Given the description of an element on the screen output the (x, y) to click on. 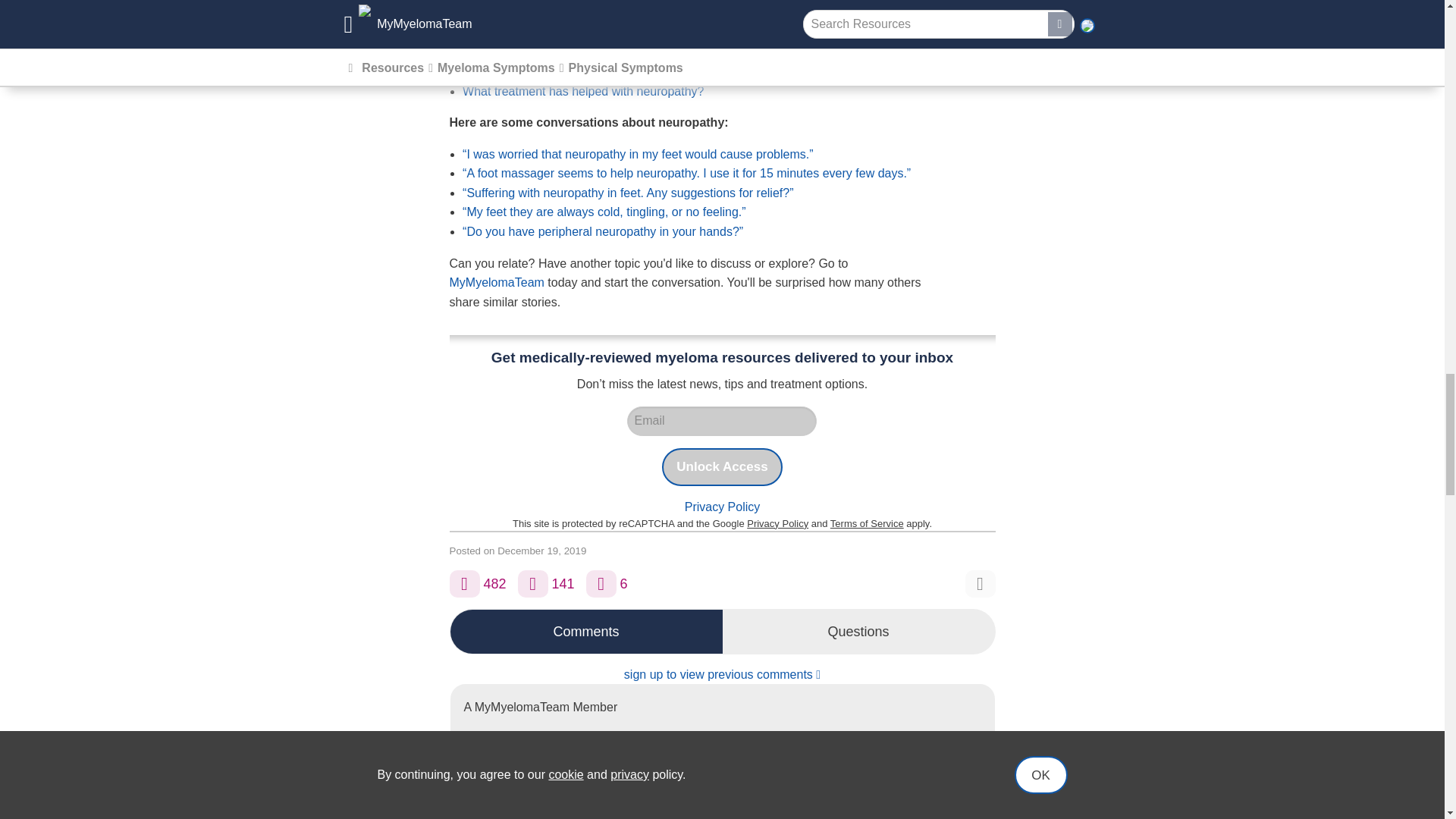
Unlock Access (721, 466)
I like this (463, 583)
Ask a question (600, 583)
Add a comment (533, 583)
